Given the description of an element on the screen output the (x, y) to click on. 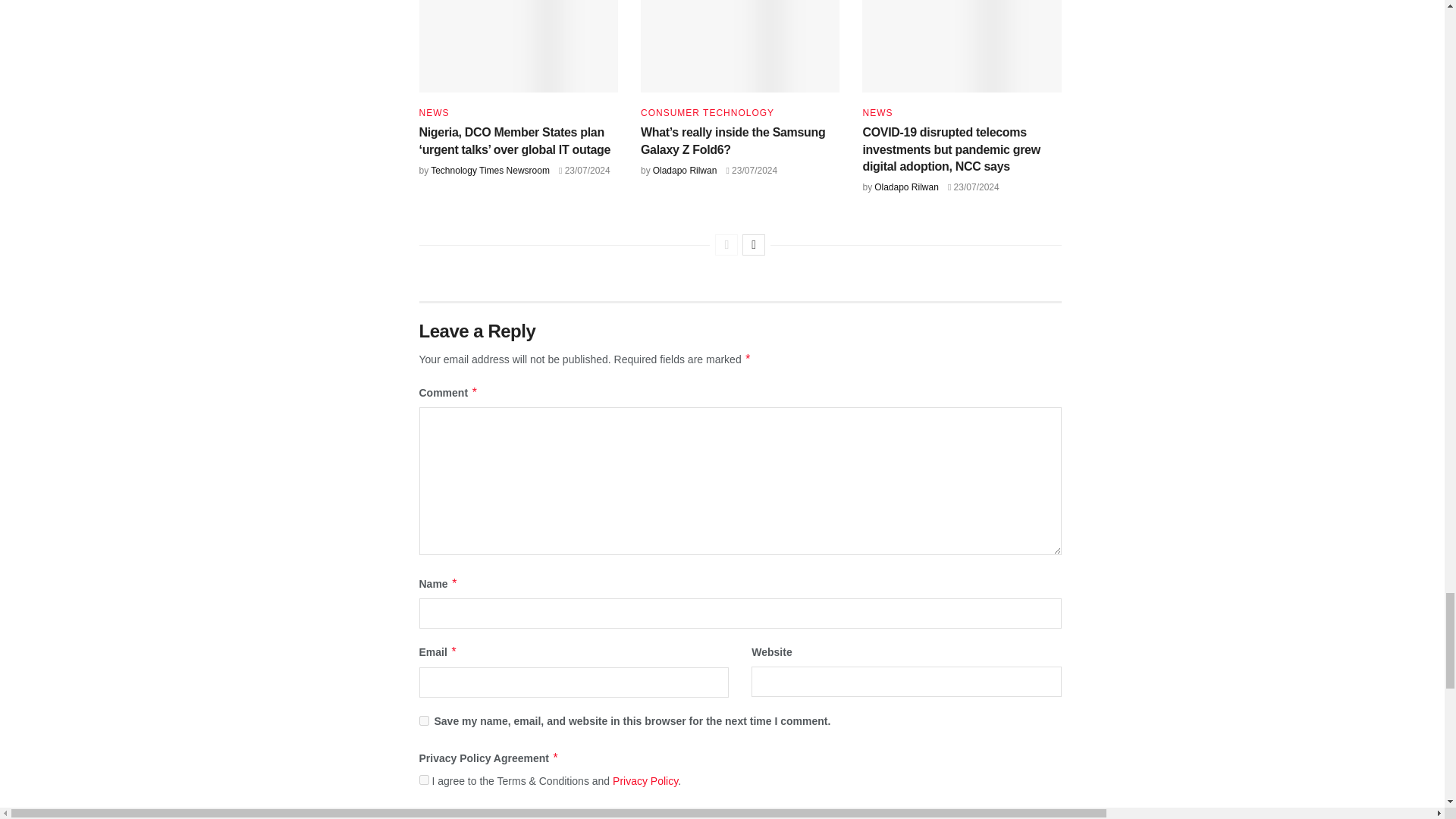
on (423, 779)
yes (423, 720)
